Given the description of an element on the screen output the (x, y) to click on. 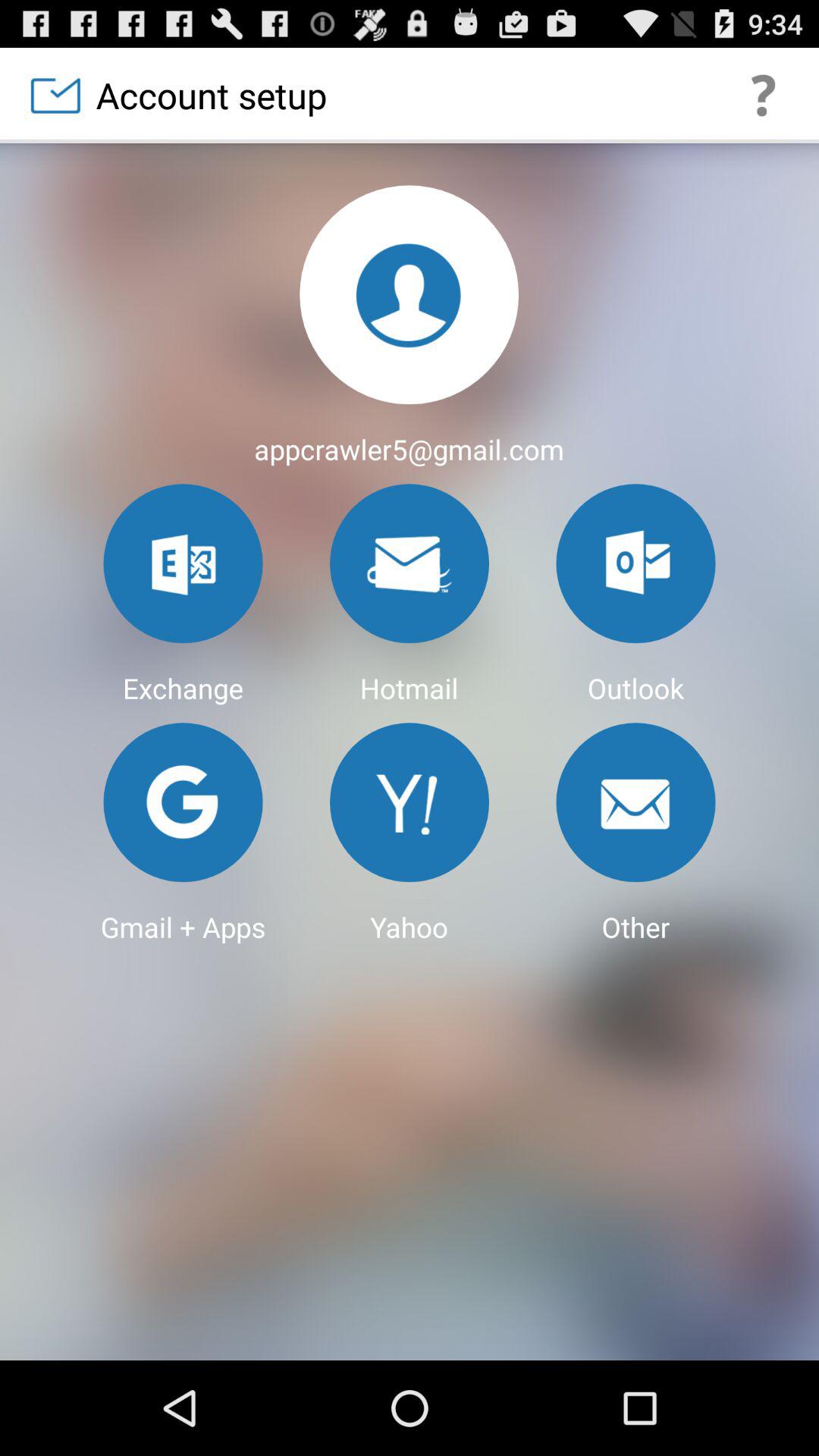
select the icon above hotmail (409, 563)
